Given the description of an element on the screen output the (x, y) to click on. 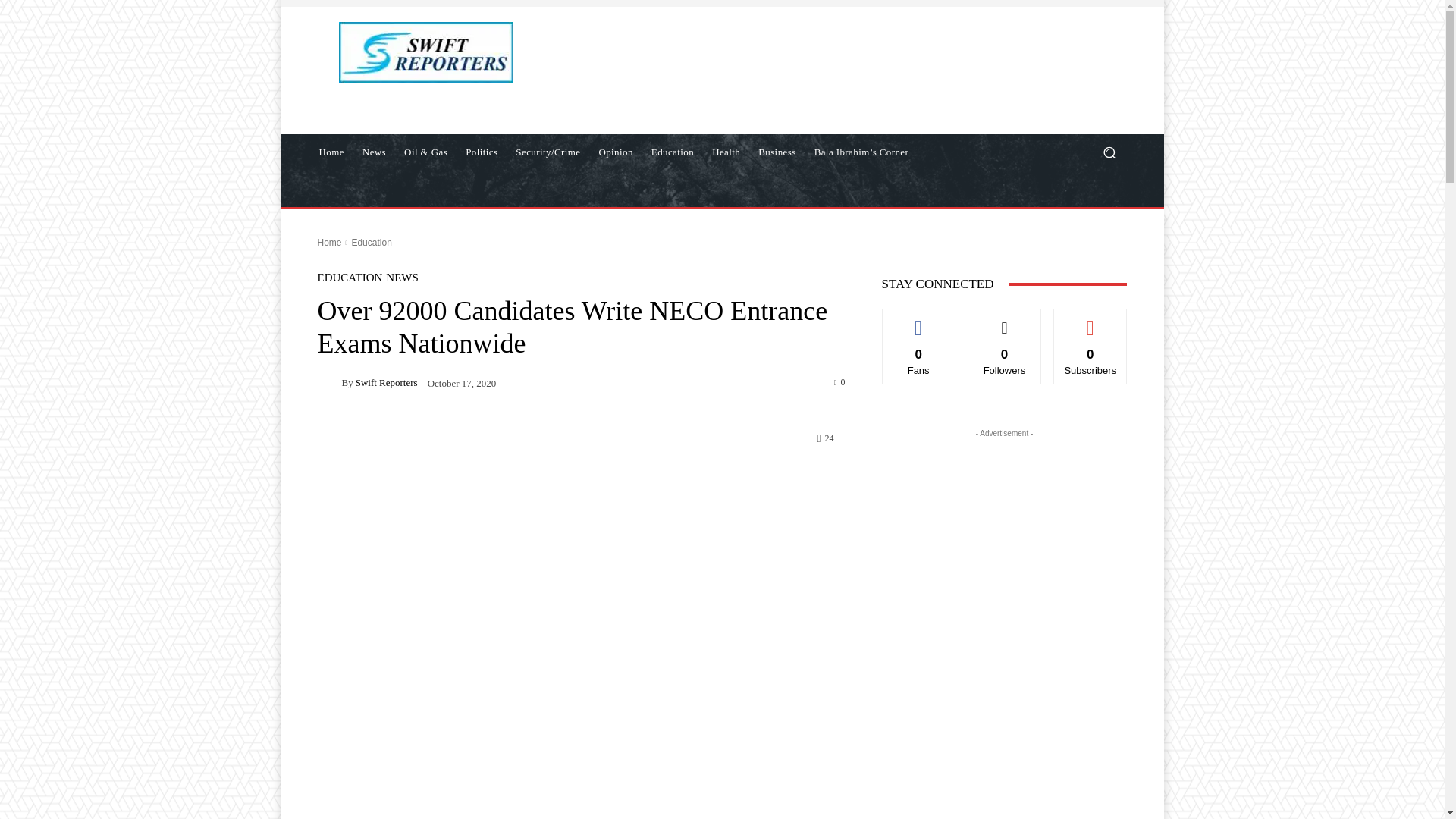
Politics (481, 152)
View all posts in Education (370, 242)
Home (328, 242)
Business (777, 152)
Education (672, 152)
News (373, 152)
Swift Reporters (328, 382)
Health (726, 152)
Education (370, 242)
Home (330, 152)
Opinion (615, 152)
EDUCATION (349, 277)
